Given the description of an element on the screen output the (x, y) to click on. 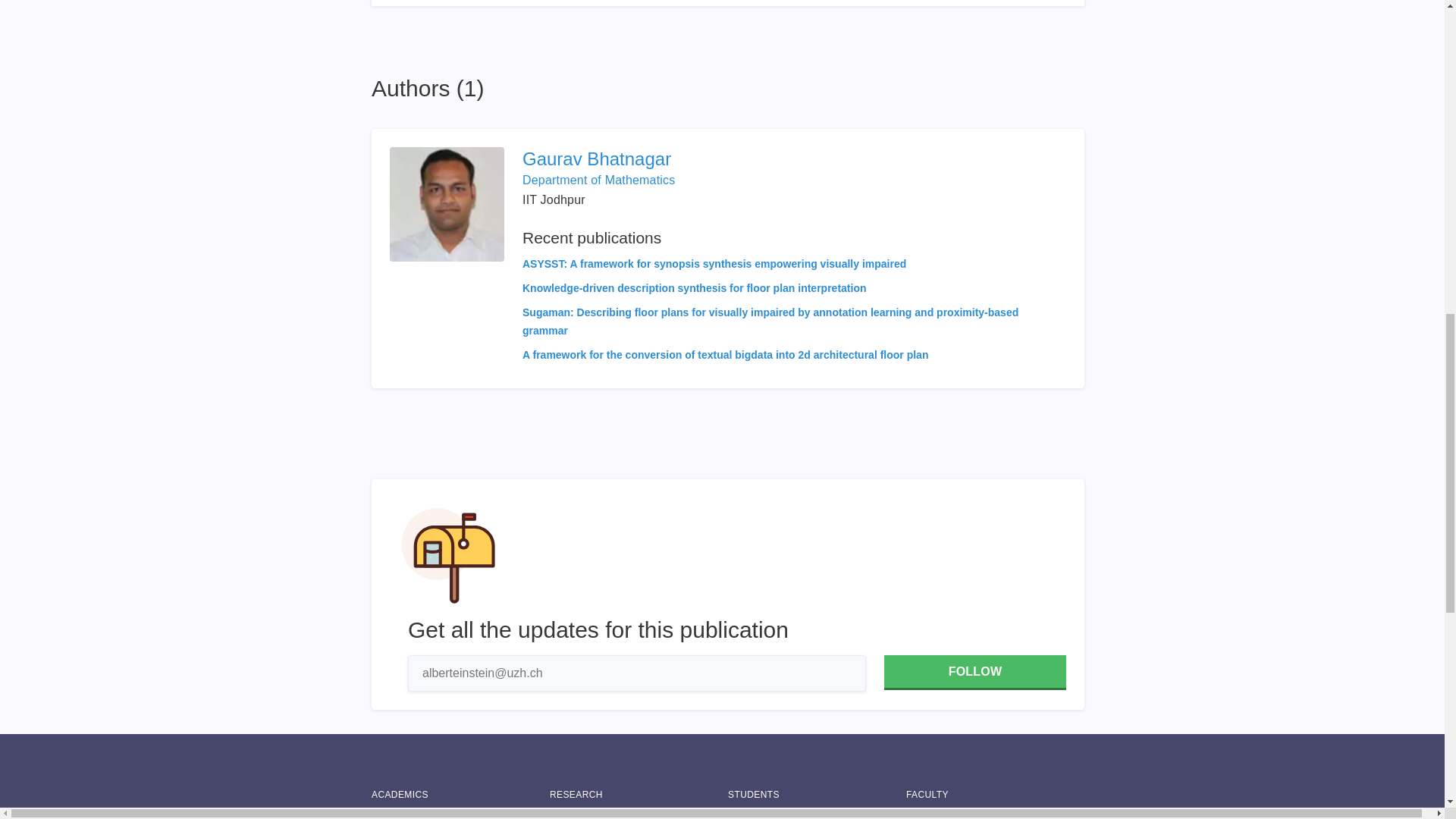
FOLLOW (974, 672)
Gaurav Bhatnagar (793, 159)
Office of Students (816, 816)
Department of Mathematics (598, 179)
Departments (460, 816)
Faculty (994, 816)
Subscribe form hero illustration (448, 555)
